Given the description of an element on the screen output the (x, y) to click on. 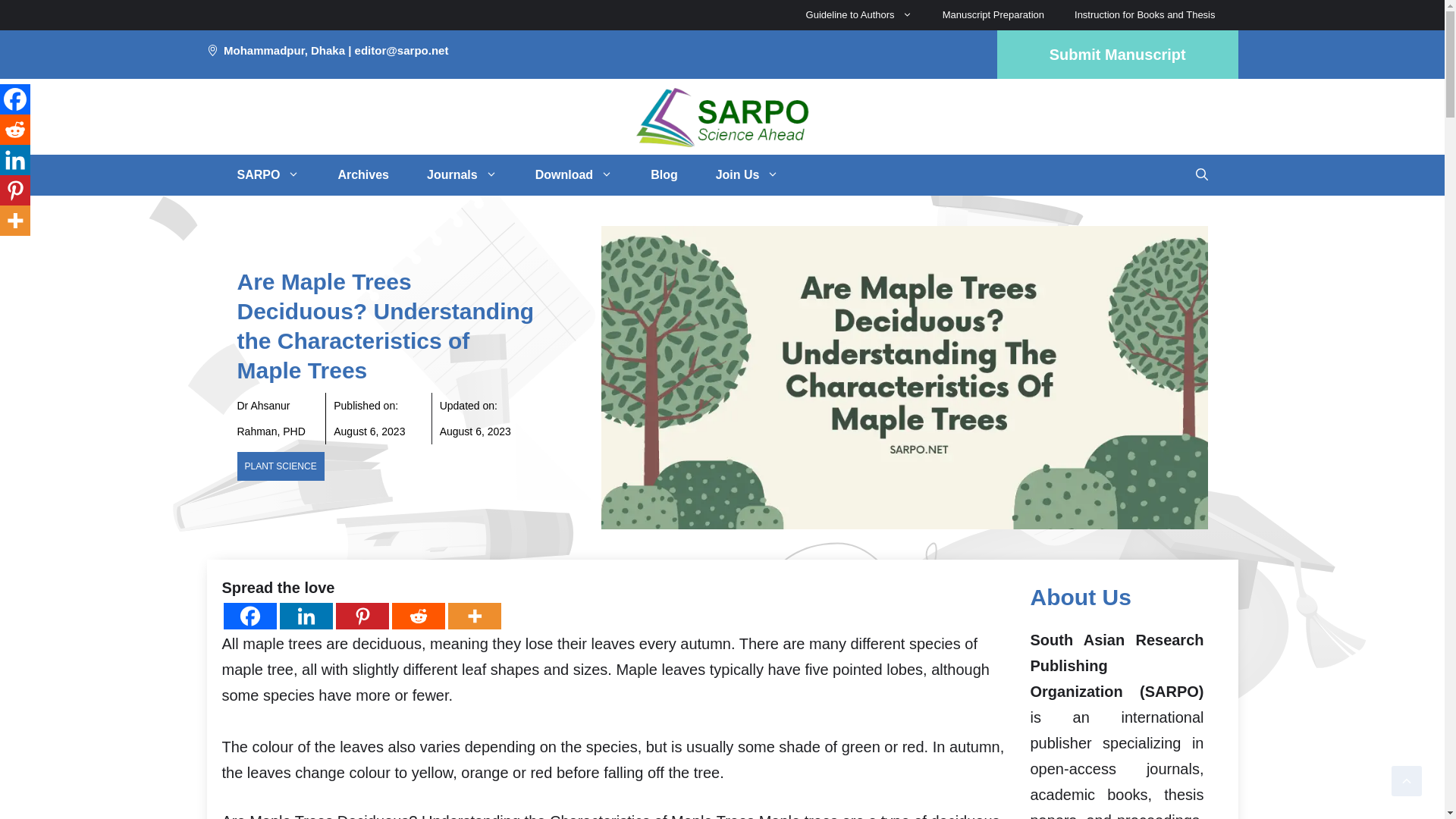
Instruction for Books and Thesis (1144, 15)
Linkedin (305, 615)
Pinterest (15, 190)
Facebook (249, 615)
Manuscript Preparation (993, 15)
Facebook (15, 99)
Linkedin (15, 159)
SARPO (268, 174)
Reddit (417, 615)
Pinterest (361, 615)
Guideline to Authors (858, 15)
More (473, 615)
Archives (362, 174)
More (15, 220)
Reddit (15, 129)
